Given the description of an element on the screen output the (x, y) to click on. 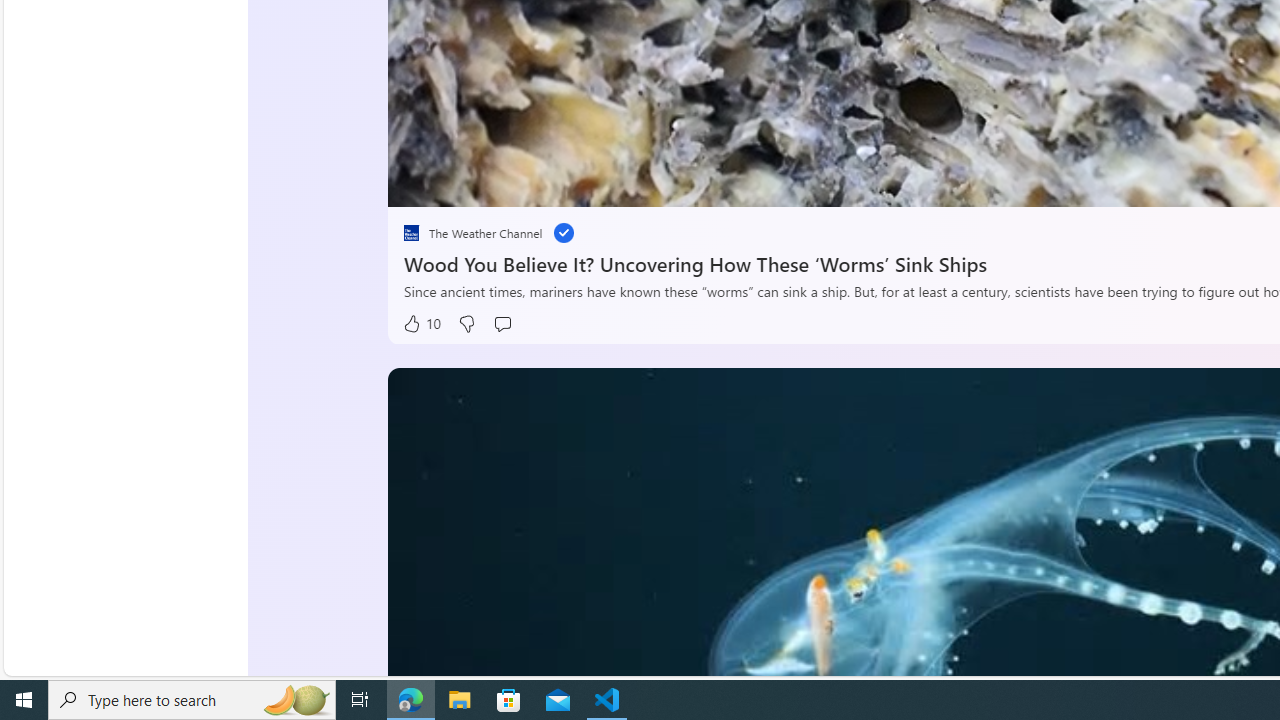
placeholder (411, 232)
Replay (417, 185)
File Explorer (460, 699)
Type here to search (191, 699)
